Given the description of an element on the screen output the (x, y) to click on. 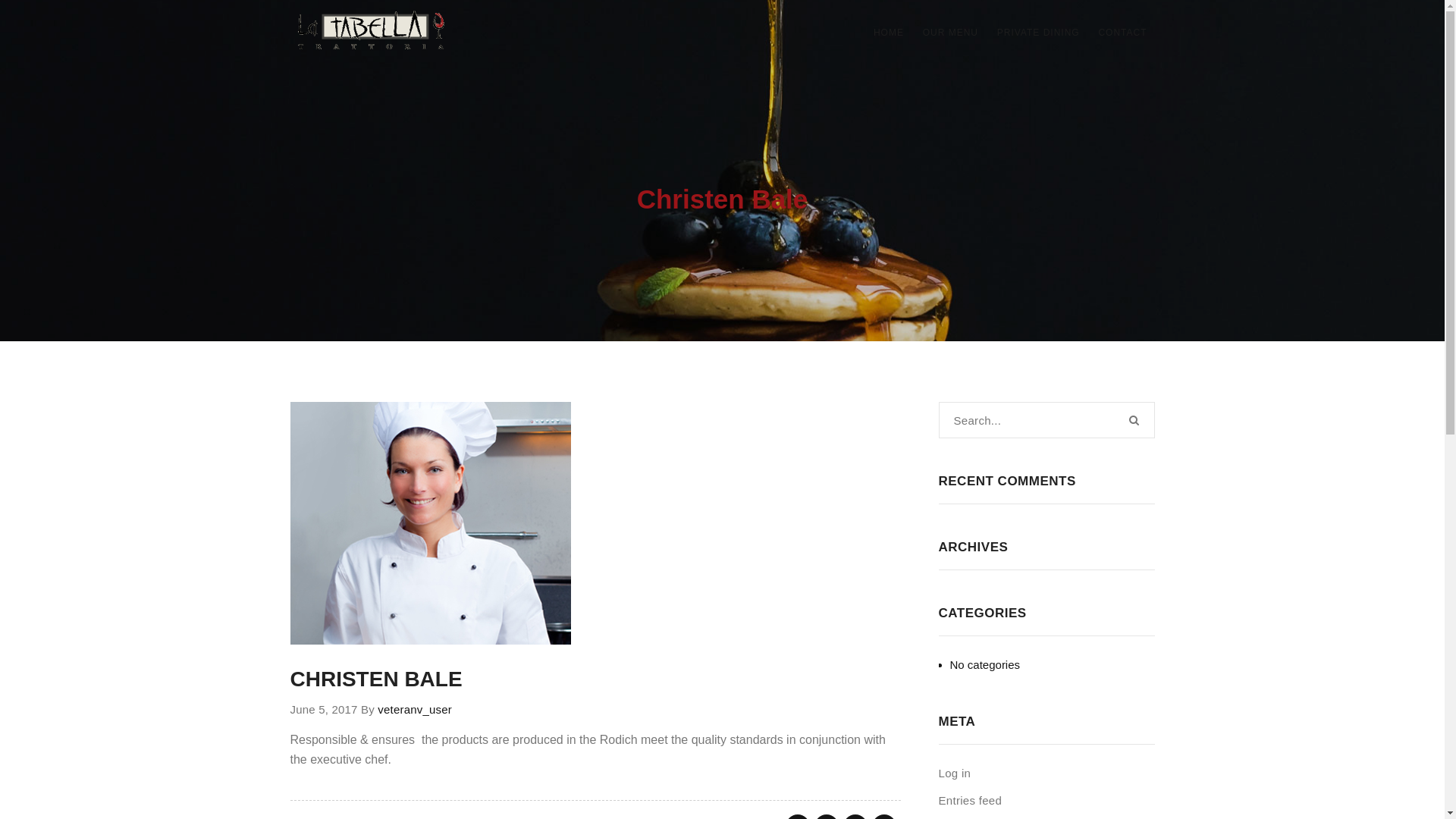
HOME Element type: text (888, 32)
OUR MENU Element type: text (950, 32)
CONTACT Element type: text (1122, 32)
Log in Element type: text (954, 773)
veteranv_user Element type: text (414, 708)
Entries feed Element type: text (970, 800)
PRIVATE DINING Element type: text (1038, 32)
